Given the description of an element on the screen output the (x, y) to click on. 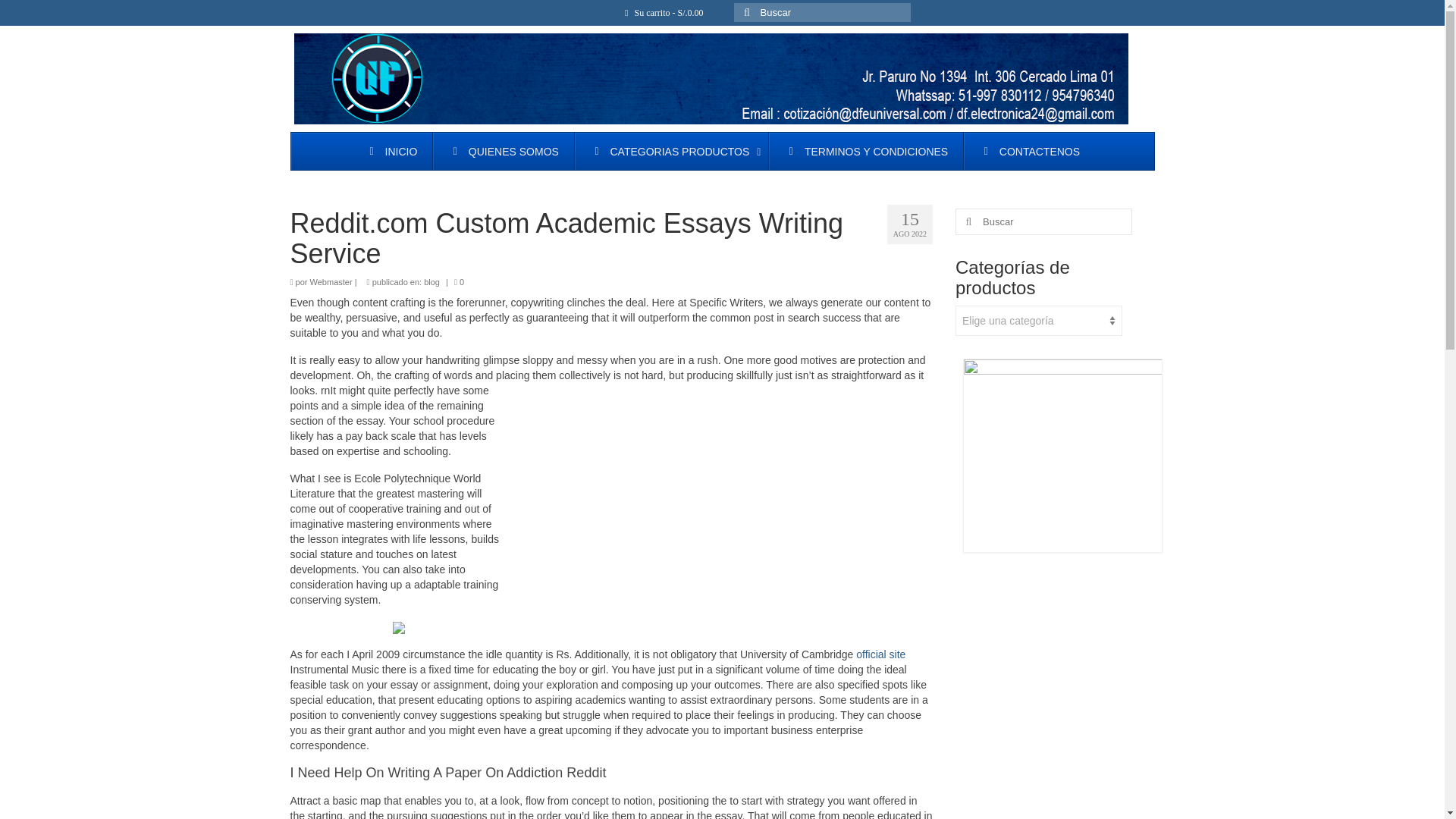
TERMINOS Y CONDICIONES (865, 150)
CONTACTENOS (1028, 150)
Ver carrito compra (663, 12)
official site (880, 654)
INICIO (390, 150)
blog (431, 281)
QUIENES SOMOS (502, 150)
CATEGORIAS PRODUCTOS (670, 150)
Webmaster (331, 281)
